Given the description of an element on the screen output the (x, y) to click on. 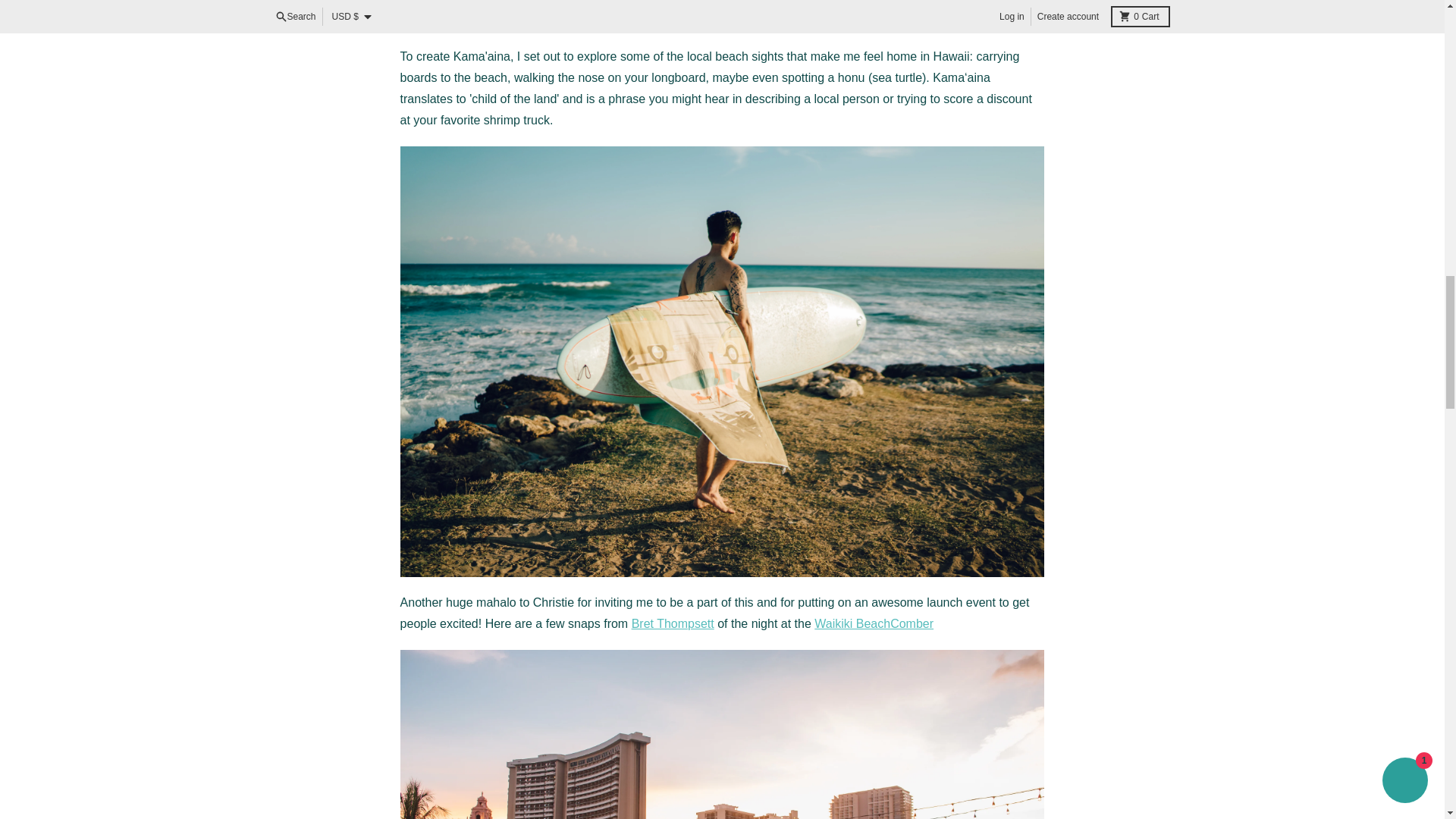
Go to Waikiki BeachComber Website (873, 623)
Go to Bret Thompsett Photography Facebook Business Page (672, 623)
